Given the description of an element on the screen output the (x, y) to click on. 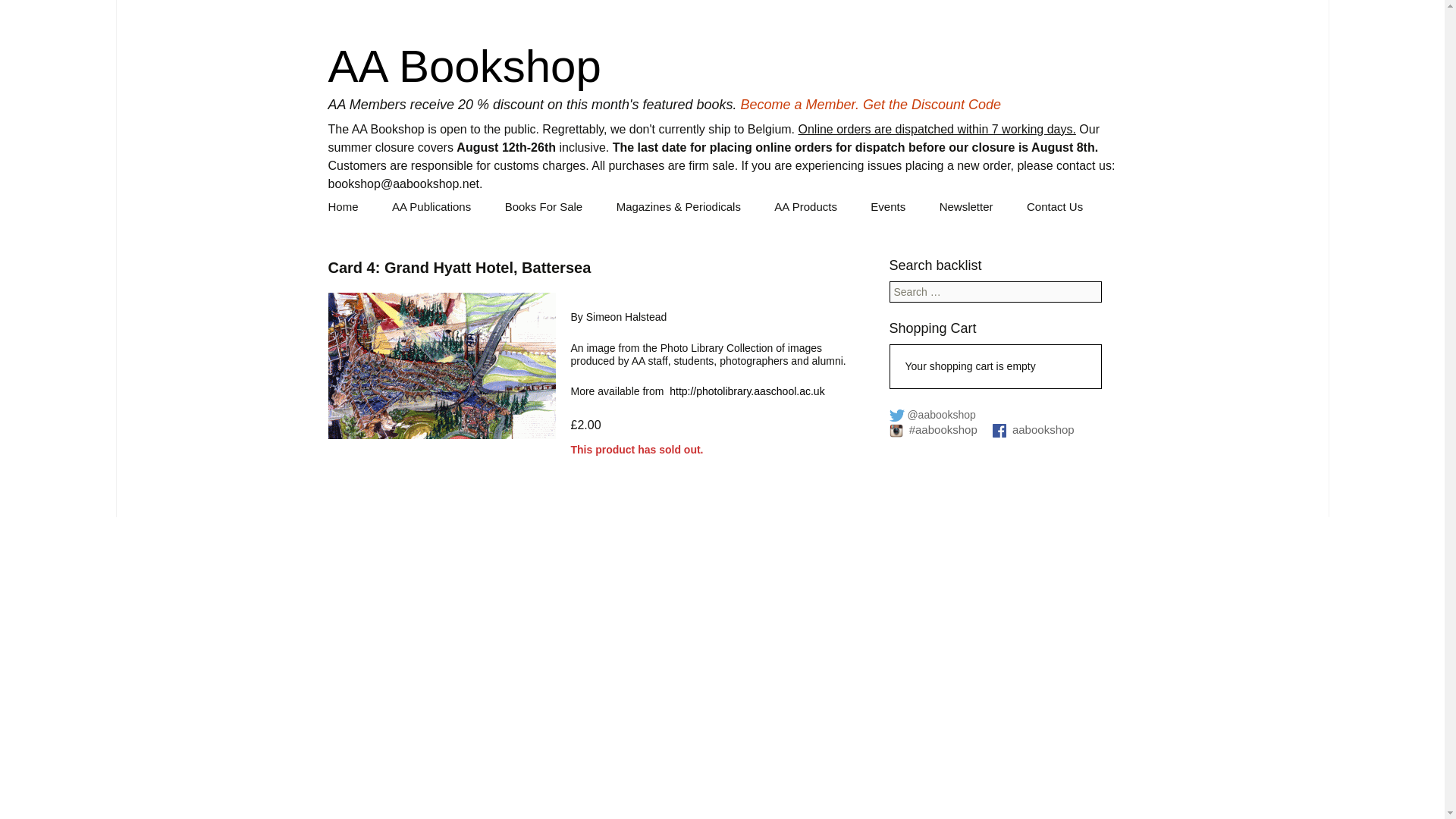
Become a Member. (800, 104)
Search (16, 6)
Search for: (994, 291)
Contact Us (1054, 206)
Books For Sale (543, 206)
Newsletter (966, 206)
aabookshop (1033, 429)
Events (888, 206)
Skip to content (350, 201)
AA Products (804, 206)
Skip to content (350, 201)
AA Bookshop (463, 65)
AA Bookshop (463, 65)
Home (342, 206)
Card 4: Grand Hyatt Hotel, Battersea (440, 365)
